Given the description of an element on the screen output the (x, y) to click on. 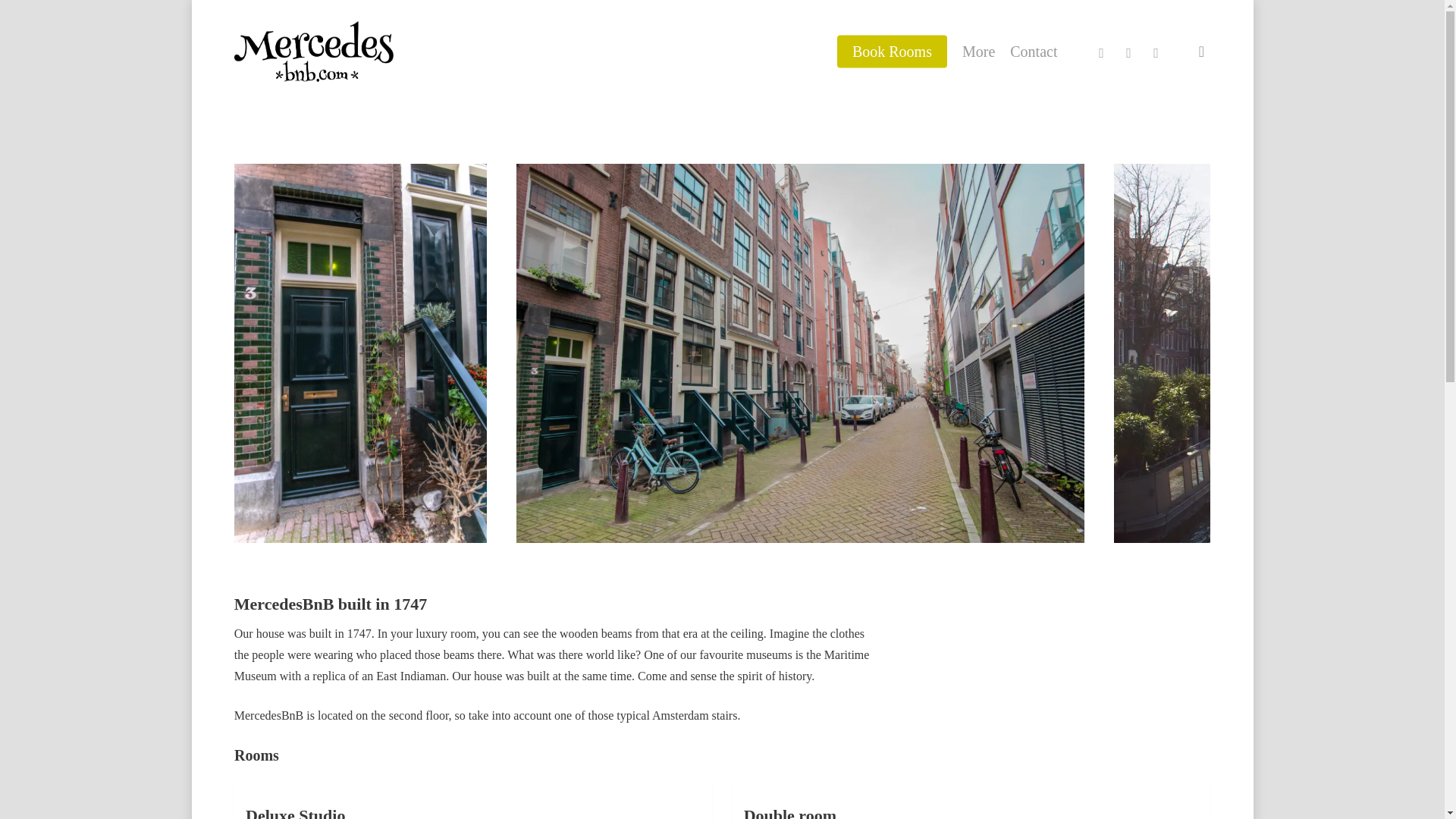
search (1200, 51)
instagram (1101, 51)
Book Rooms (892, 51)
More (978, 51)
Privacy Policy (767, 459)
tripadvisor (1128, 51)
Glashelderdesign.nl (848, 734)
Contact (1033, 51)
instagram (702, 773)
tripadvisor (740, 773)
email (1155, 51)
